Given the description of an element on the screen output the (x, y) to click on. 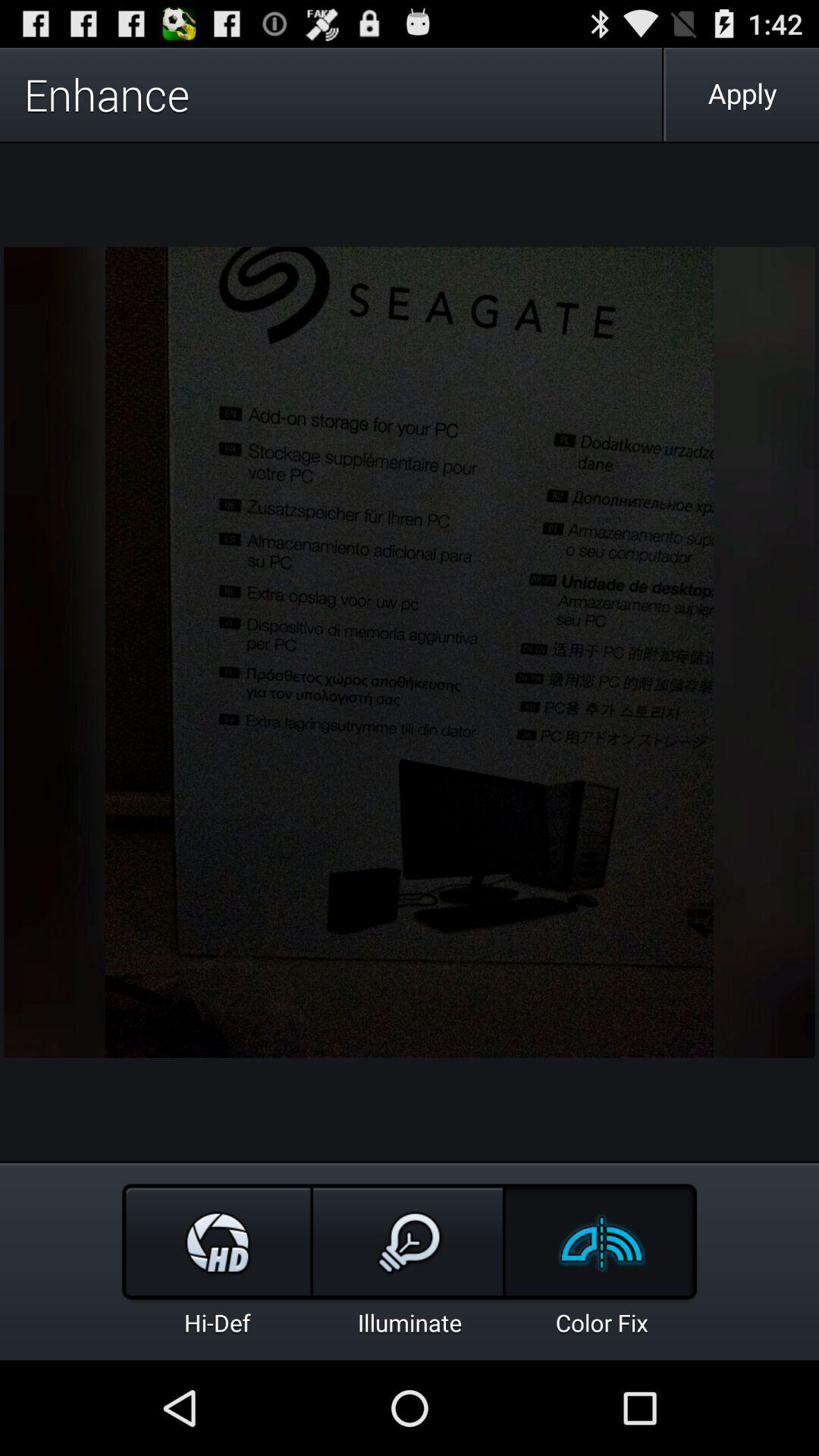
click on the bulb image option above illuminate text (409, 1244)
click on the hd icon (216, 1244)
